Given the description of an element on the screen output the (x, y) to click on. 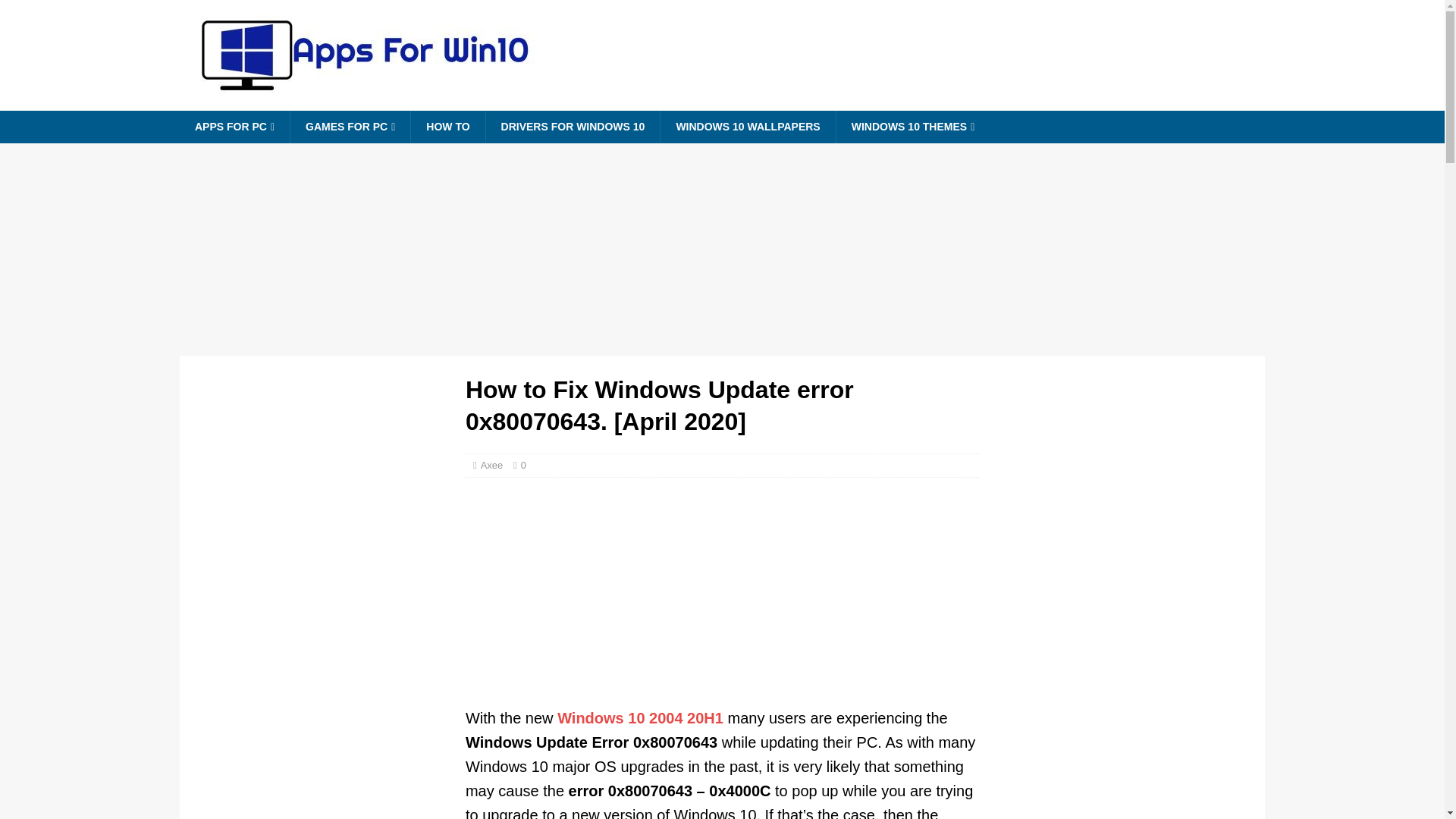
Windows 10 2004 20H1 (640, 718)
HOW TO (447, 126)
Advertisement (722, 599)
Axee (491, 464)
APPS FOR PC (234, 126)
WINDOWS 10 THEMES (912, 126)
GAMES FOR PC (349, 126)
WINDOWS 10 WALLPAPERS (746, 126)
Advertisement (321, 707)
